Given the description of an element on the screen output the (x, y) to click on. 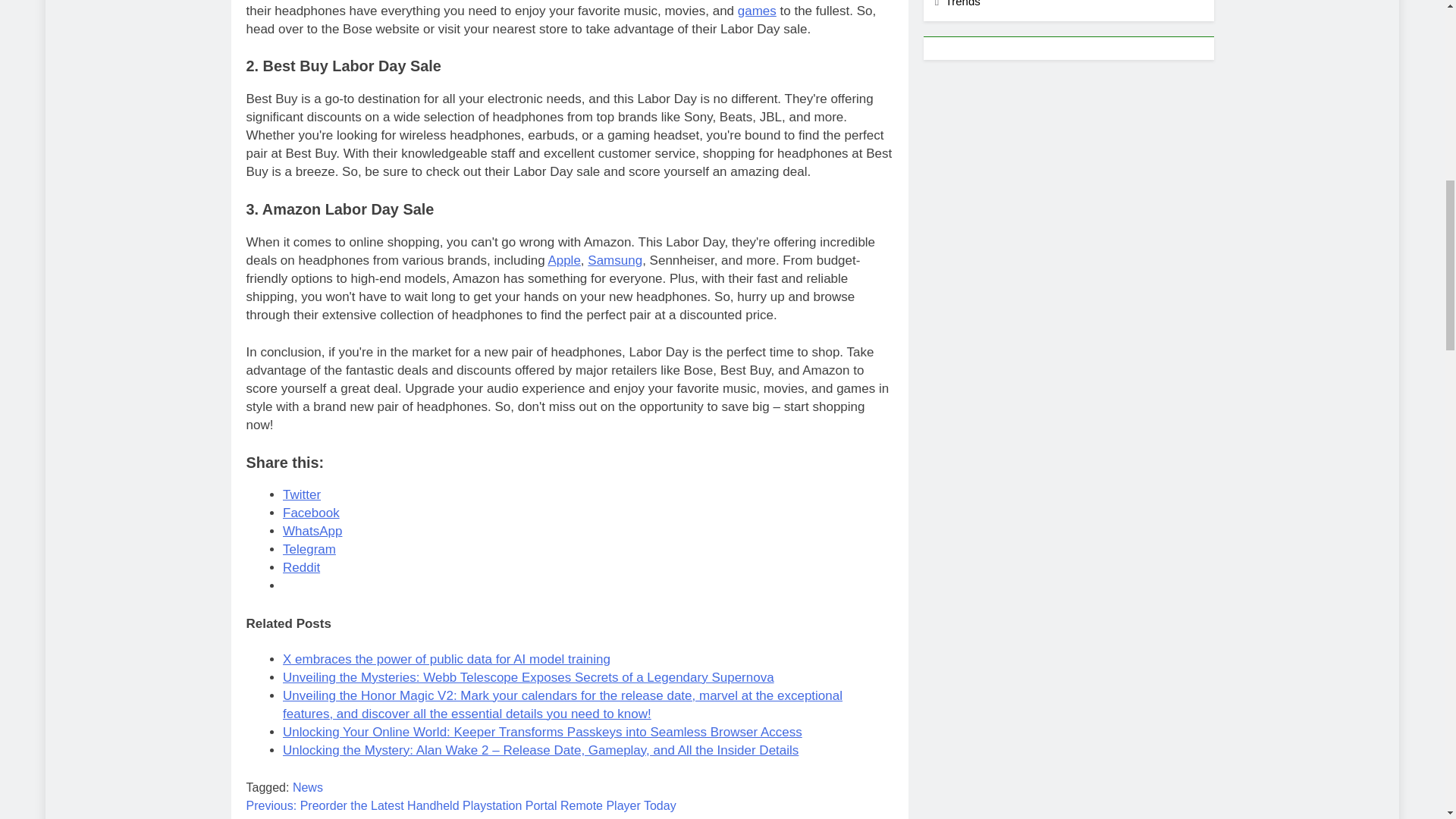
Facebook (310, 513)
Twitter (301, 494)
Posts tagged with samsung (615, 260)
Reddit (301, 567)
Posts tagged with apple (563, 260)
Click to share on Reddit (301, 567)
Click to share on Twitter (301, 494)
X embraces the power of public data for AI model training (446, 658)
games (757, 11)
Click to share on Facebook (310, 513)
Apple (563, 260)
Click to share on Telegram (309, 549)
Click to share on WhatsApp (312, 531)
Telegram (309, 549)
